Given the description of an element on the screen output the (x, y) to click on. 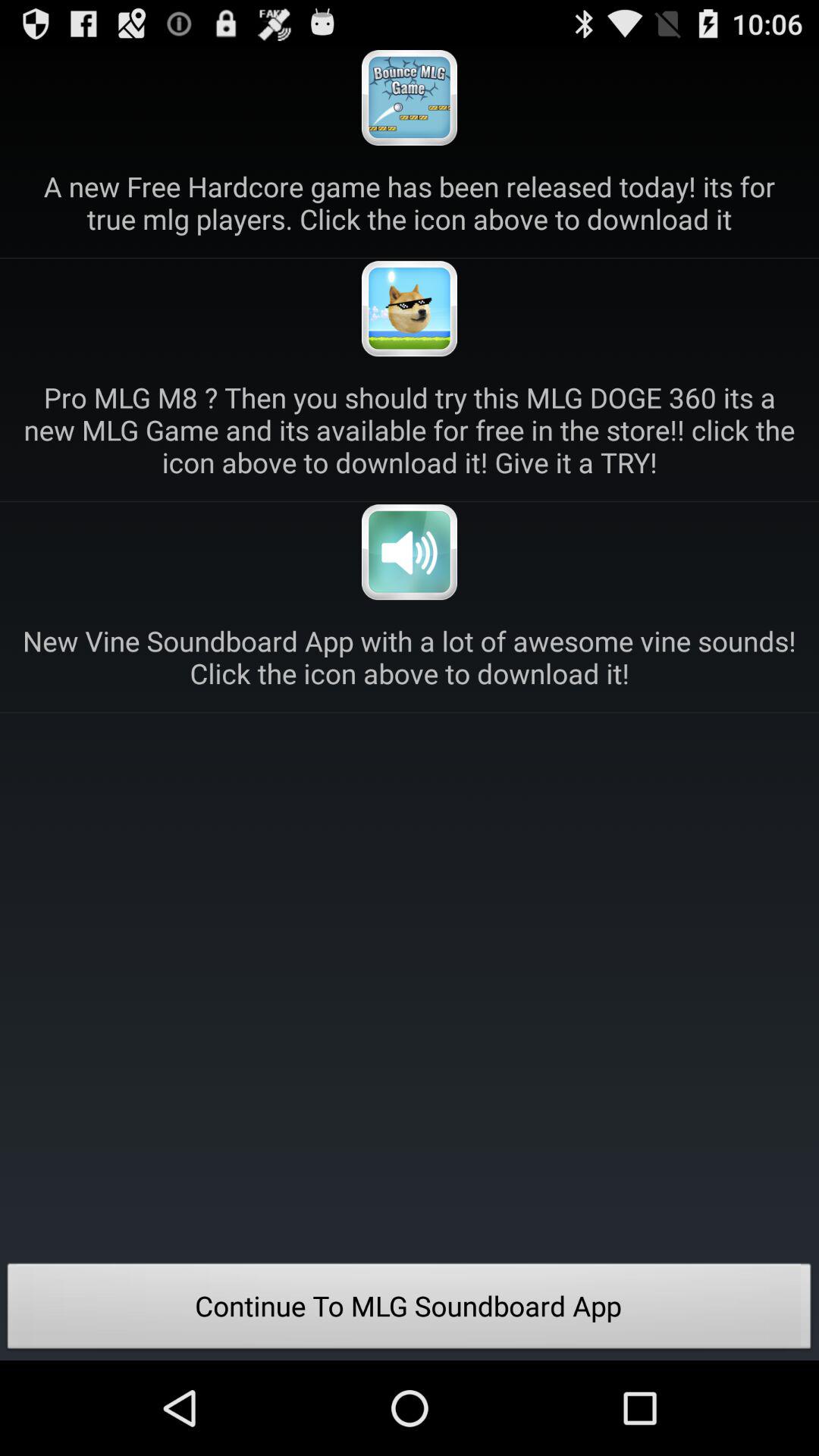
open advertisement for download (409, 308)
